Given the description of an element on the screen output the (x, y) to click on. 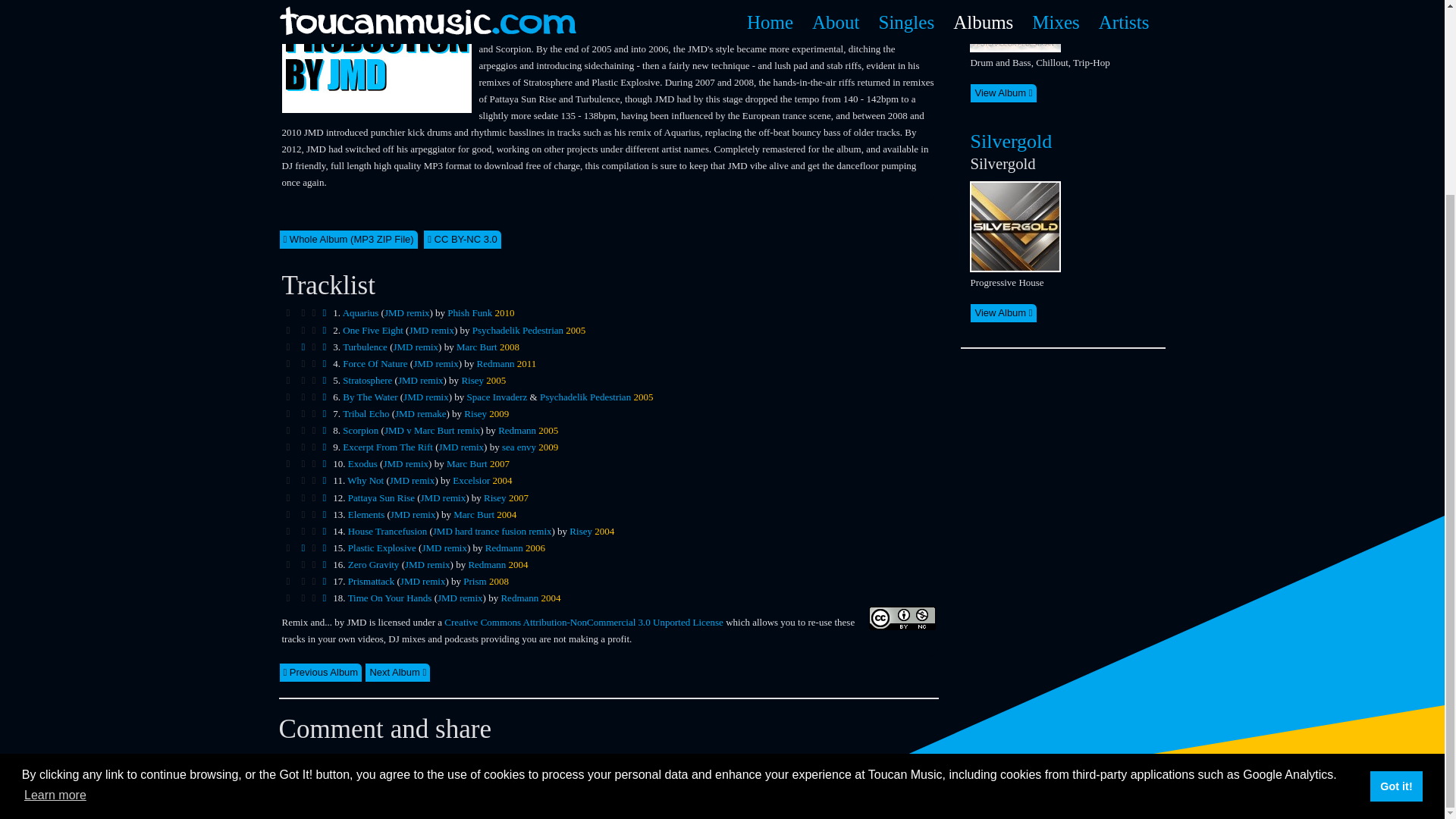
Marc Burt (477, 346)
Aquarius (360, 312)
JMD remix (406, 312)
JMD remix (425, 396)
JMD remix (420, 379)
Redmann (496, 363)
Stratosphere (366, 379)
Got it! (1396, 541)
By The Water (369, 396)
Psychadelik Pedestrian (517, 329)
Phish Funk (469, 312)
JMD remix (415, 346)
JMD remix (431, 329)
Learn more (54, 549)
Turbulence (364, 346)
